Given the description of an element on the screen output the (x, y) to click on. 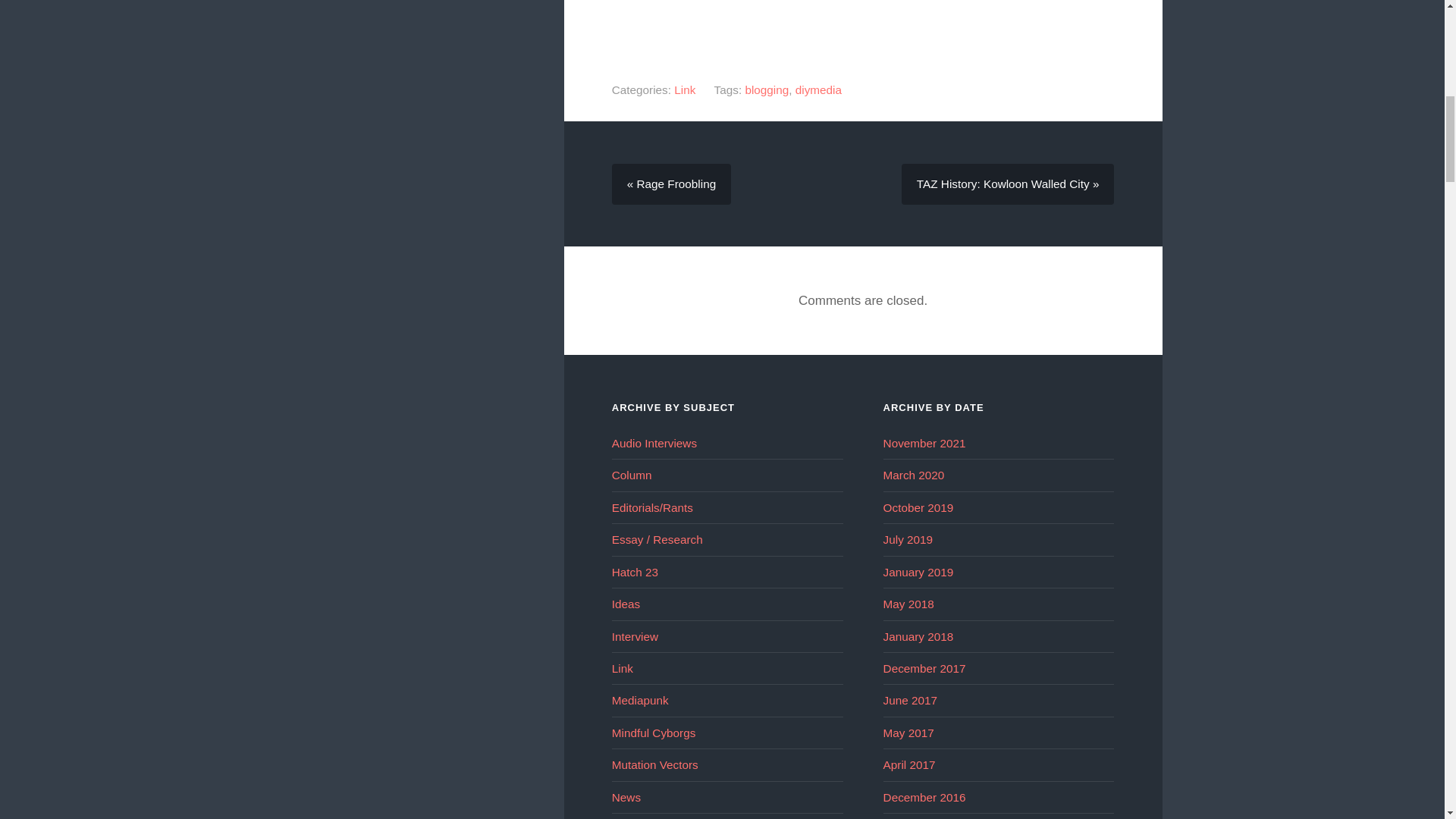
Mindful Cyborgs (653, 732)
diymedia (817, 89)
News (625, 797)
Link (684, 89)
Mediapunk (639, 699)
Audio Interviews (654, 442)
Ideas (625, 603)
blogging (766, 89)
Column (631, 474)
Link (622, 667)
Previous post: Rage Froobling (670, 183)
Hatch 23 (634, 571)
Interview (634, 635)
Next post: TAZ History: Kowloon Walled City (1008, 183)
Mutation Vectors (654, 764)
